Given the description of an element on the screen output the (x, y) to click on. 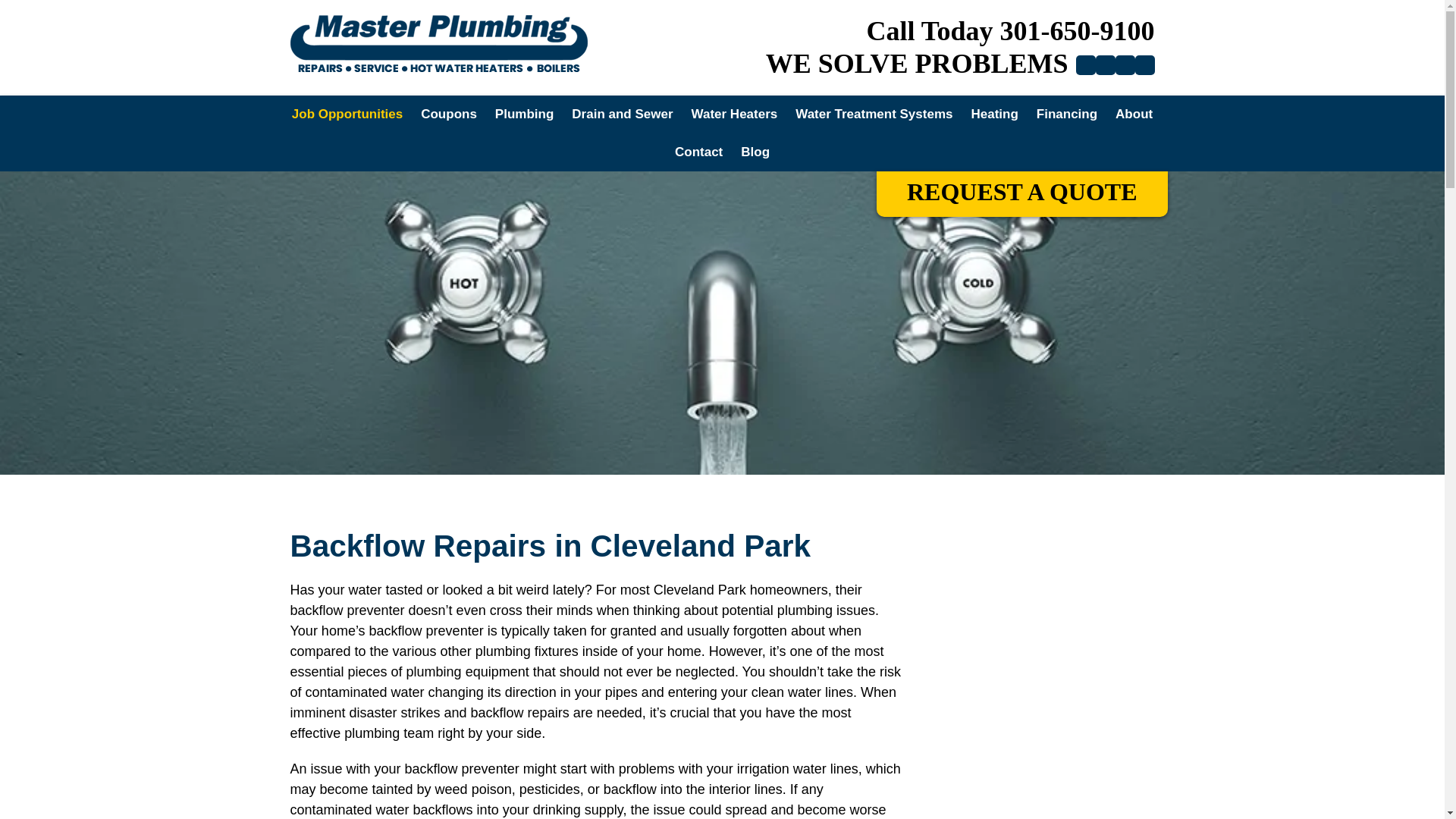
Coupons (449, 114)
Heating (993, 114)
Job Opportunities (347, 114)
Drain and Sewer (621, 114)
Plumbing (524, 114)
Water Heaters (734, 114)
Call Today 301-650-9100 (1010, 30)
Water Treatment Systems (873, 114)
Master Plumbing (437, 45)
